Given the description of an element on the screen output the (x, y) to click on. 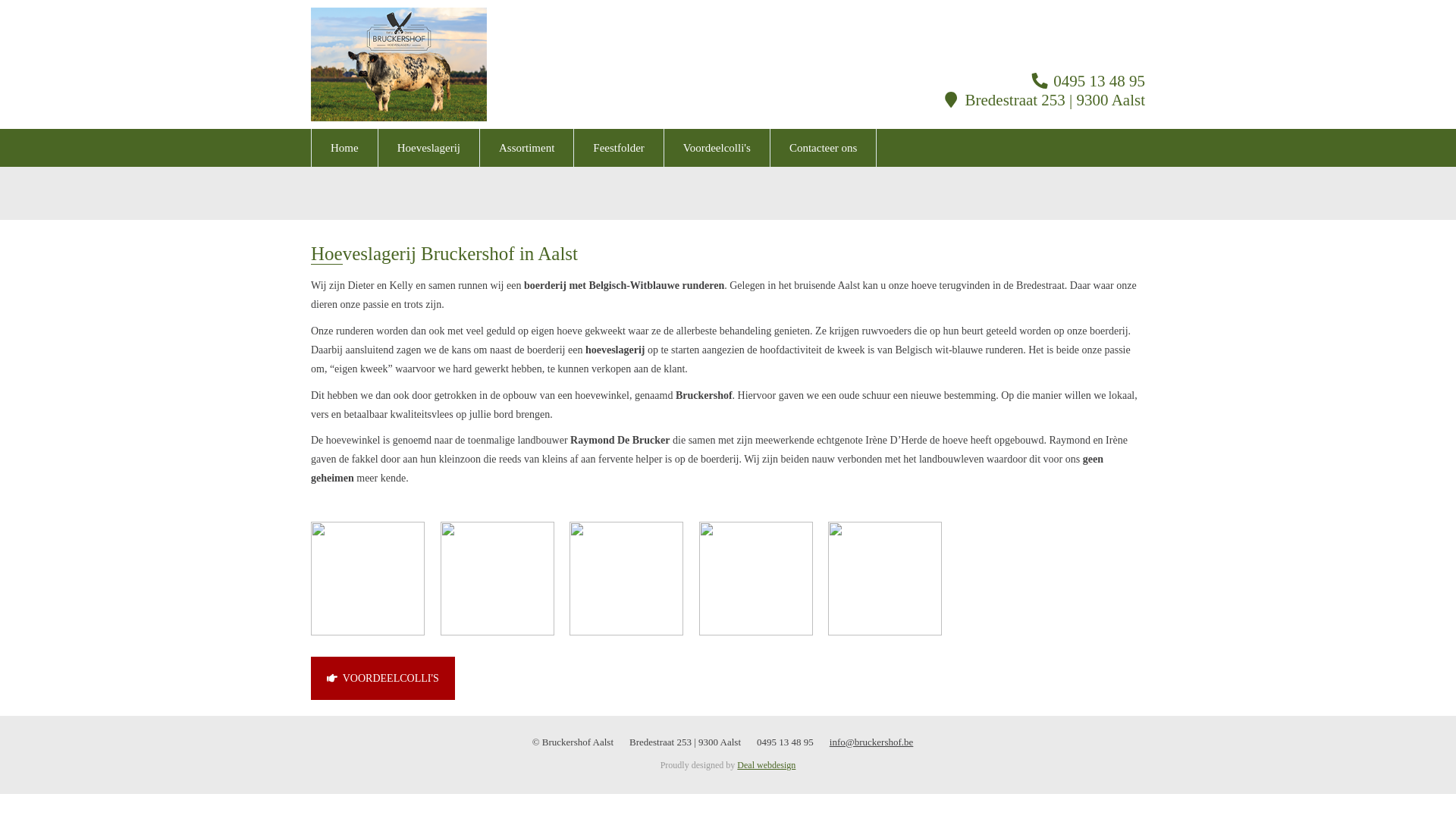
Home Element type: text (344, 147)
Contacteer ons Element type: text (823, 147)
Voordeelcolli's Element type: text (716, 147)
Hoeveslagerij Element type: text (428, 147)
  VOORDEELCOLLI'S Element type: text (382, 677)
Assortiment Element type: text (526, 147)
info@bruckershof.be Element type: text (871, 742)
Deal webdesign Element type: text (766, 764)
Feestfolder Element type: text (618, 147)
